Given the description of an element on the screen output the (x, y) to click on. 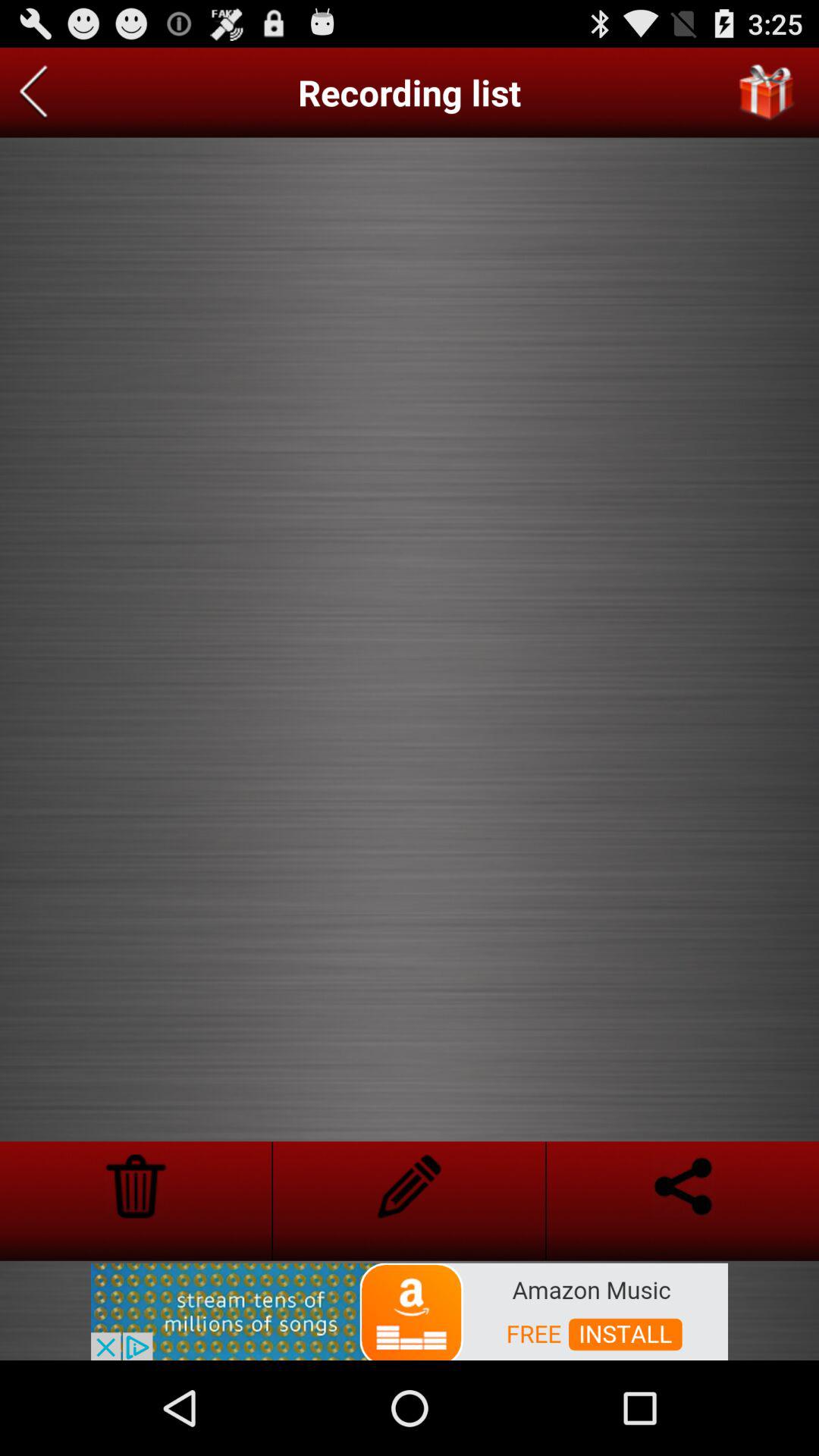
go to the previous screen (33, 92)
